Given the description of an element on the screen output the (x, y) to click on. 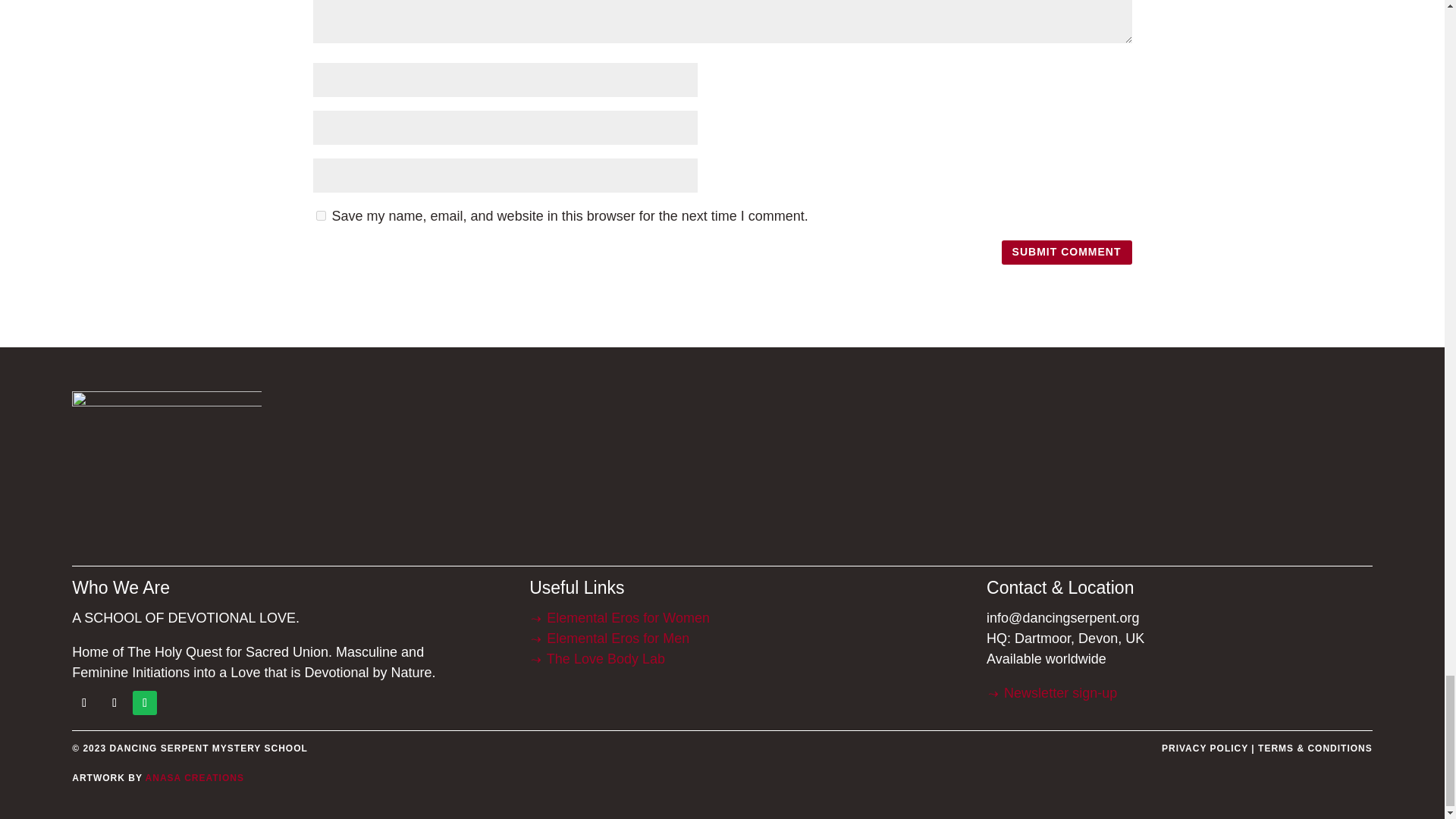
yes (319, 215)
Follow on Facebook (83, 702)
logo-white-footer (166, 470)
